Given the description of an element on the screen output the (x, y) to click on. 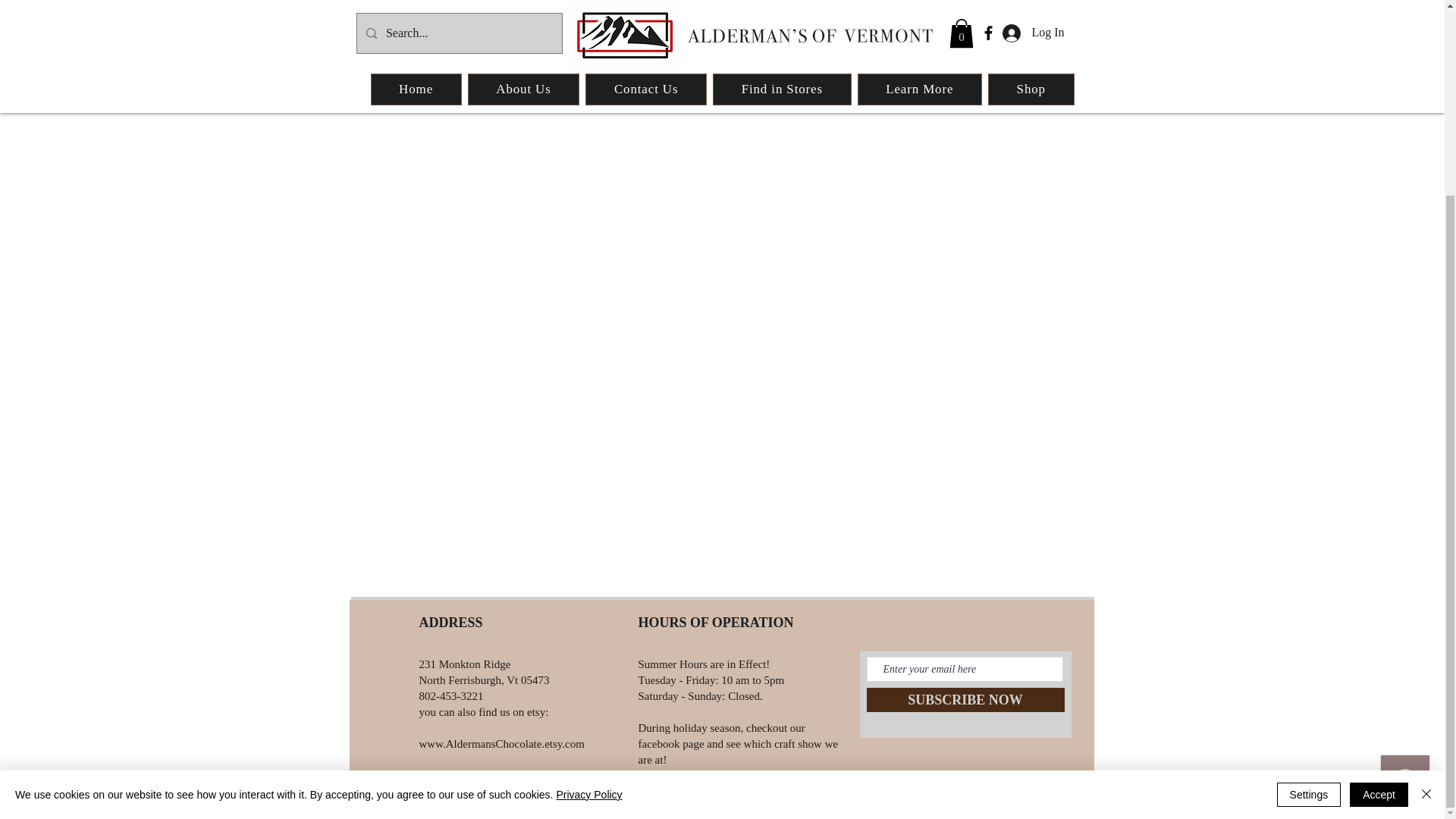
Continue Shopping (721, 33)
Settings (1308, 548)
www.AldermansChocolate.etsy.com (501, 743)
Accept (1378, 548)
Wix.com (941, 803)
Privacy Policy (588, 548)
SUBSCRIBE NOW (965, 699)
